Given the description of an element on the screen output the (x, y) to click on. 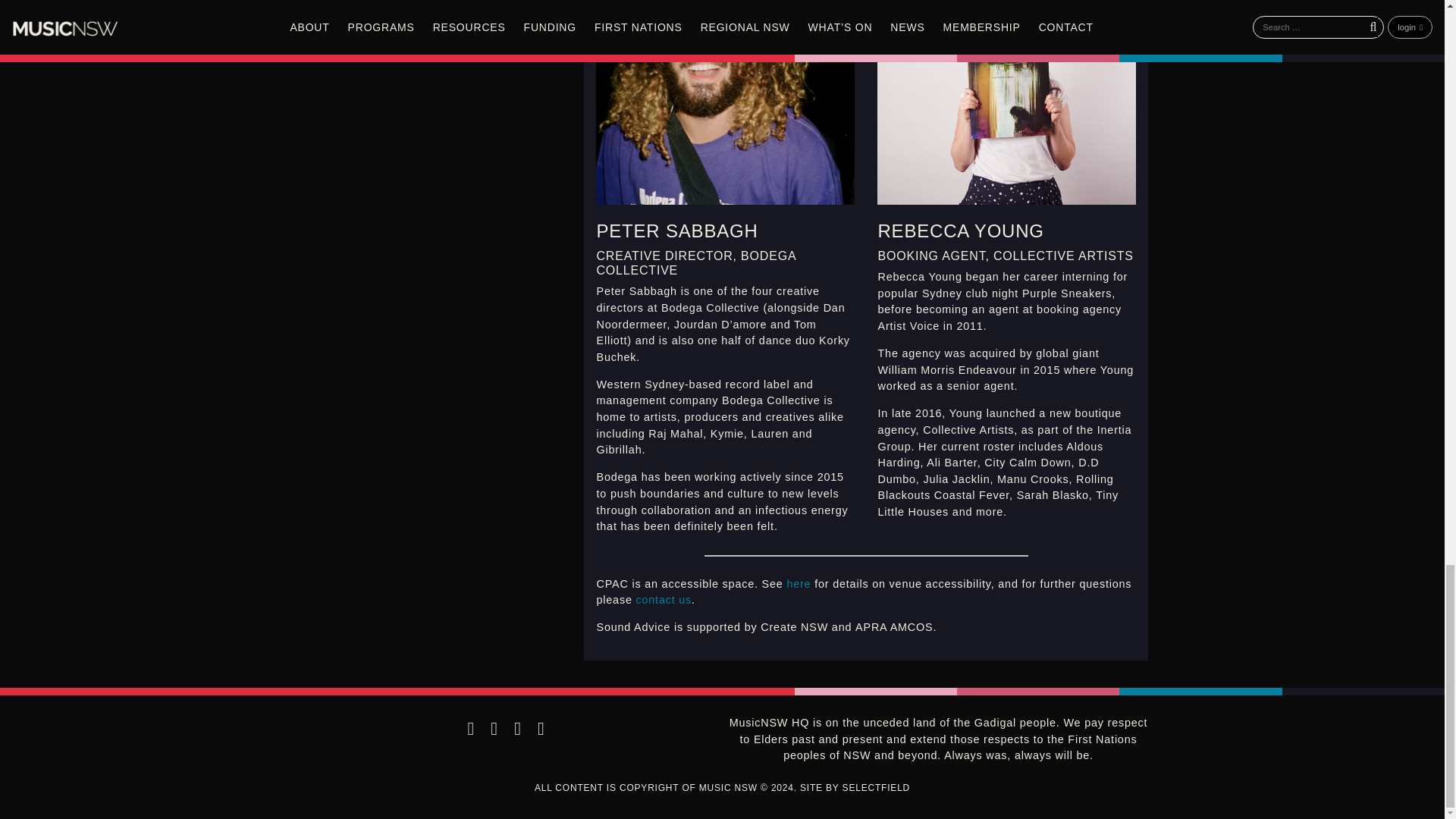
contact us (662, 599)
Peter Sabbagh (724, 102)
SELECTFIELD (877, 787)
Rebecca Young (1006, 102)
here (798, 583)
